Given the description of an element on the screen output the (x, y) to click on. 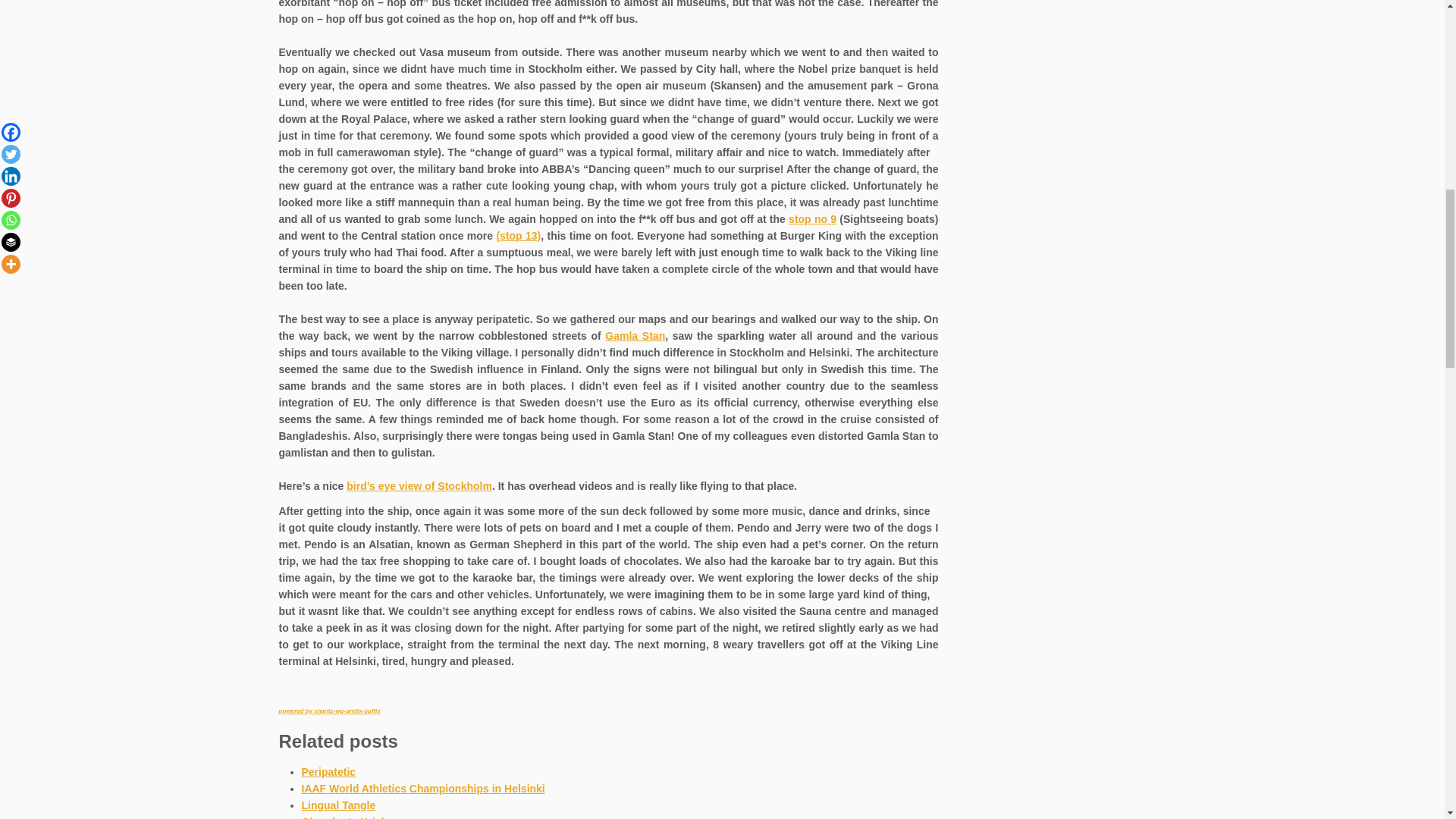
Gamla Stan (635, 336)
stop no 9 (812, 218)
